Given the description of an element on the screen output the (x, y) to click on. 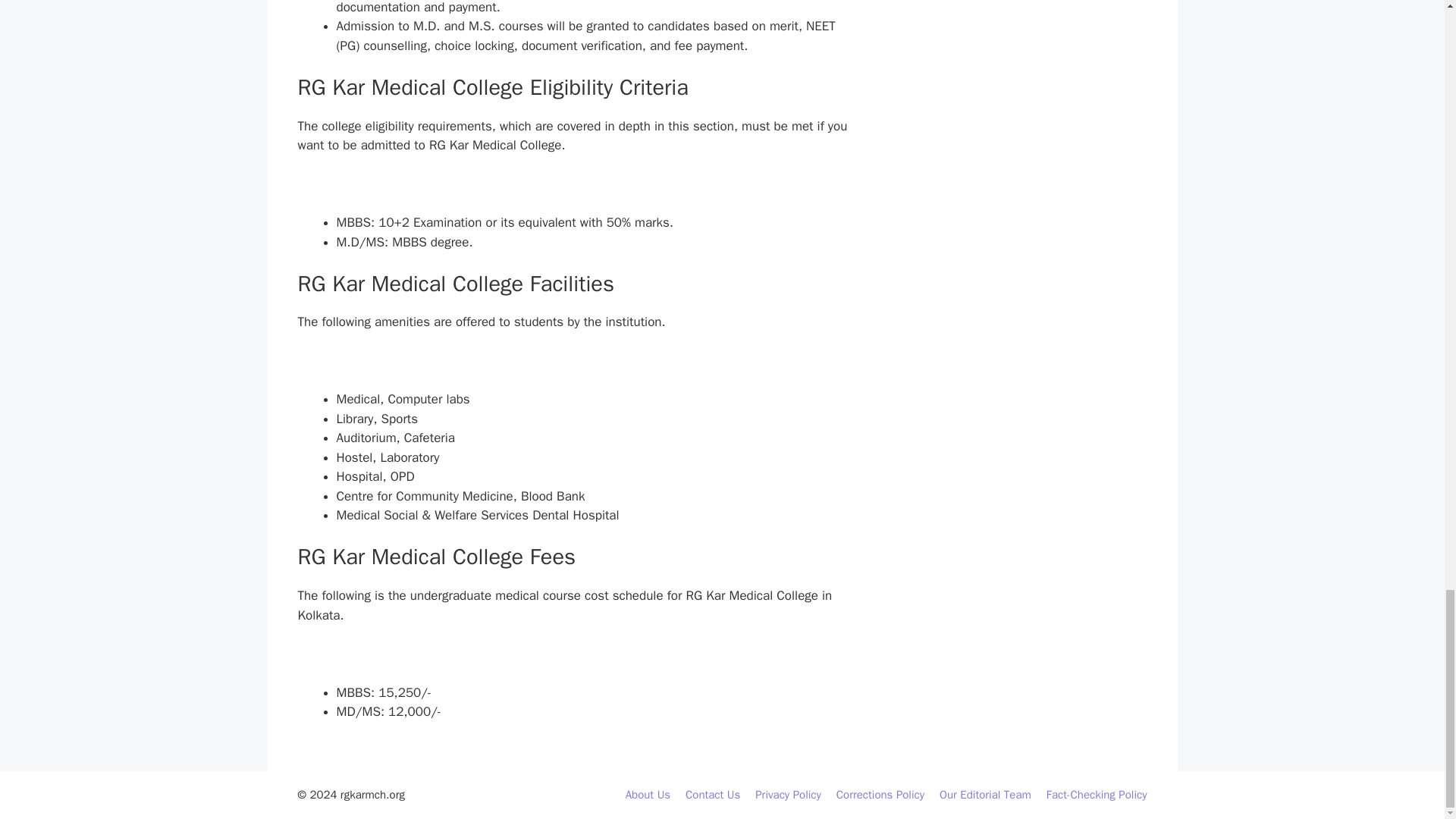
Fact-Checking Policy (1096, 794)
Contact Us (712, 794)
About Us (647, 794)
Corrections Policy (879, 794)
Privacy Policy (788, 794)
Our Editorial Team (984, 794)
